Given the description of an element on the screen output the (x, y) to click on. 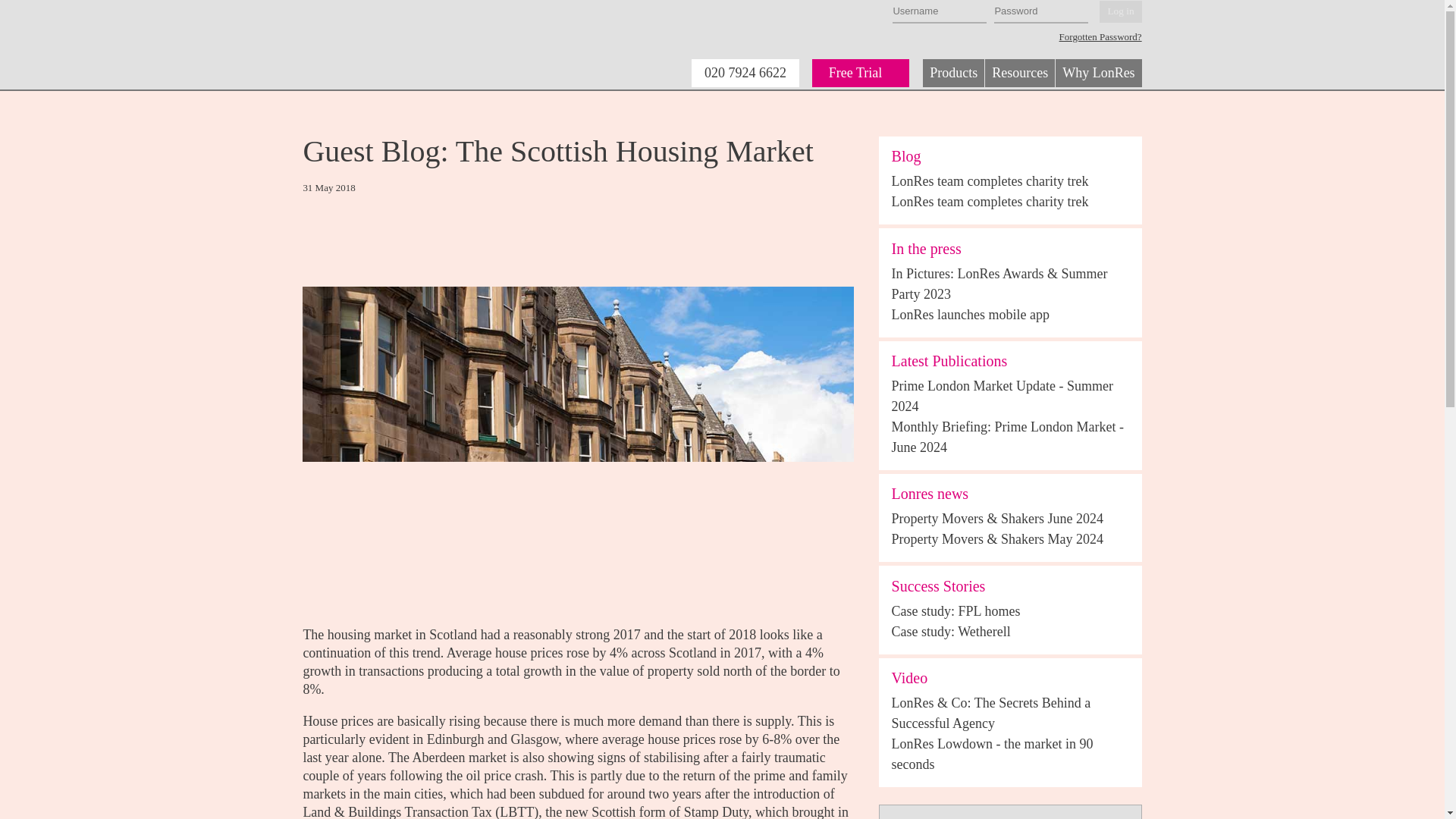
Why LonRes (1098, 72)
Free Trial (861, 72)
Products (953, 72)
Home (386, 43)
LonRes launches mobile app (970, 313)
LonRes team completes charity trek (990, 201)
Log in (1120, 11)
Log in (1120, 11)
Monthly Briefing: Prime London Market - June 2024 (1007, 437)
Latest Publications (949, 360)
